Given the description of an element on the screen output the (x, y) to click on. 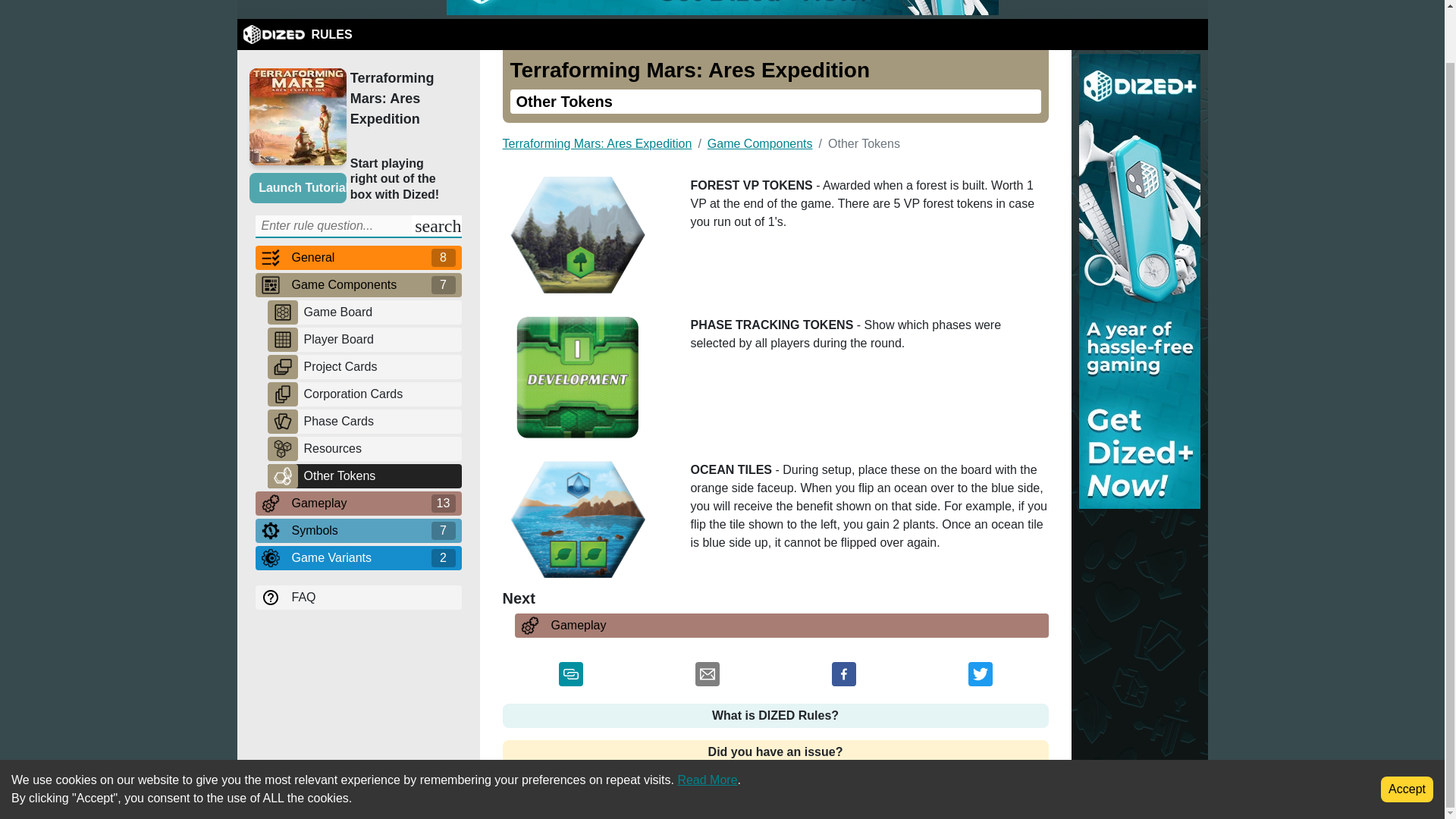
Symbols (357, 530)
Other Tokens (379, 476)
Share link via E-Mail (706, 676)
Share link on Facebook (843, 676)
Project Cards (379, 366)
  RULES (297, 34)
Game Board (379, 312)
Corporation Cards (379, 394)
Launch Tutorial (297, 187)
Copy link to clipboard (569, 676)
Game Components (357, 284)
Player Board (379, 339)
General (357, 257)
Phase Cards (379, 421)
Resources (379, 448)
